Given the description of an element on the screen output the (x, y) to click on. 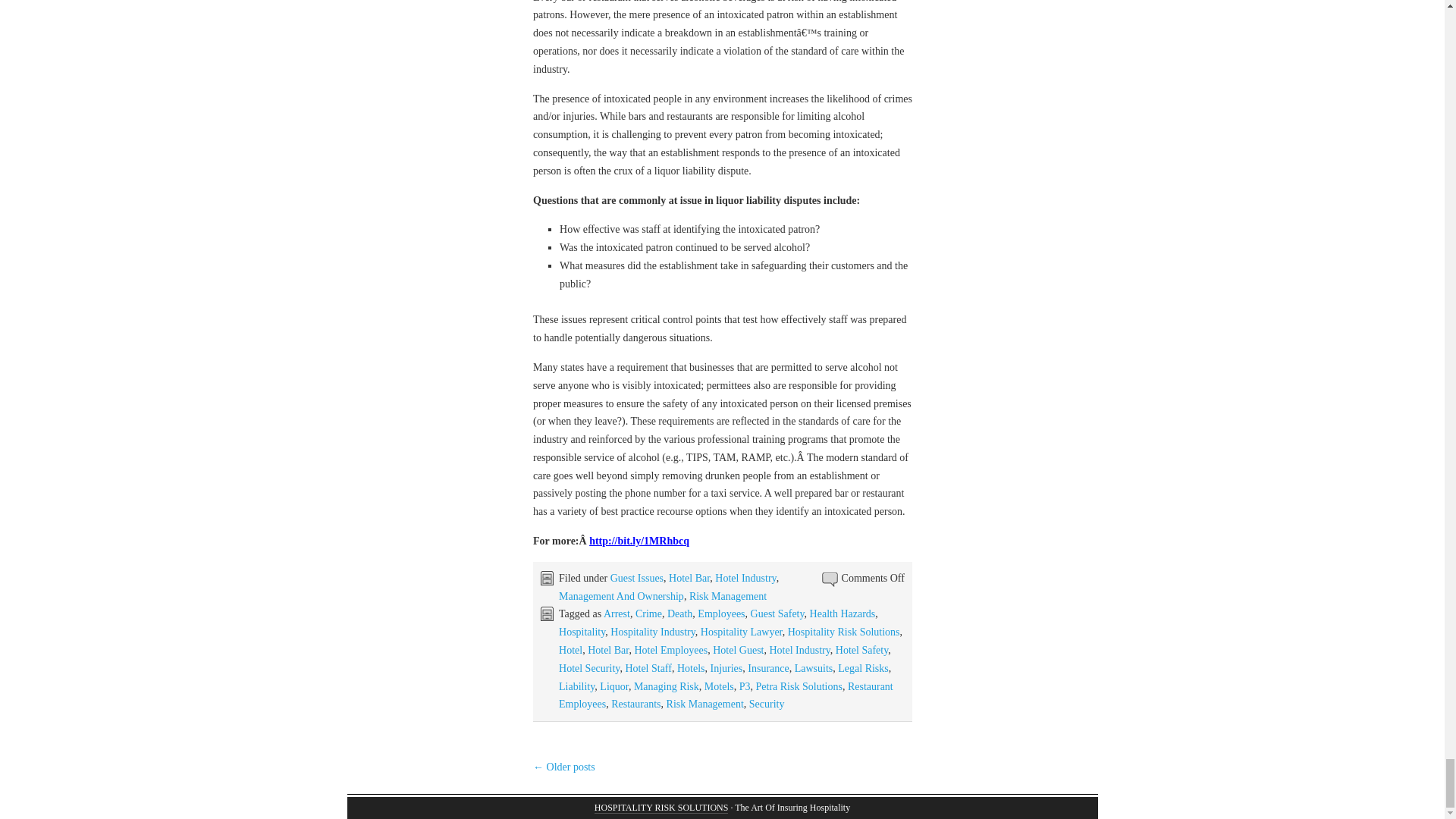
HOSPITALITY RISK SOLUTIONS (661, 808)
